Given the description of an element on the screen output the (x, y) to click on. 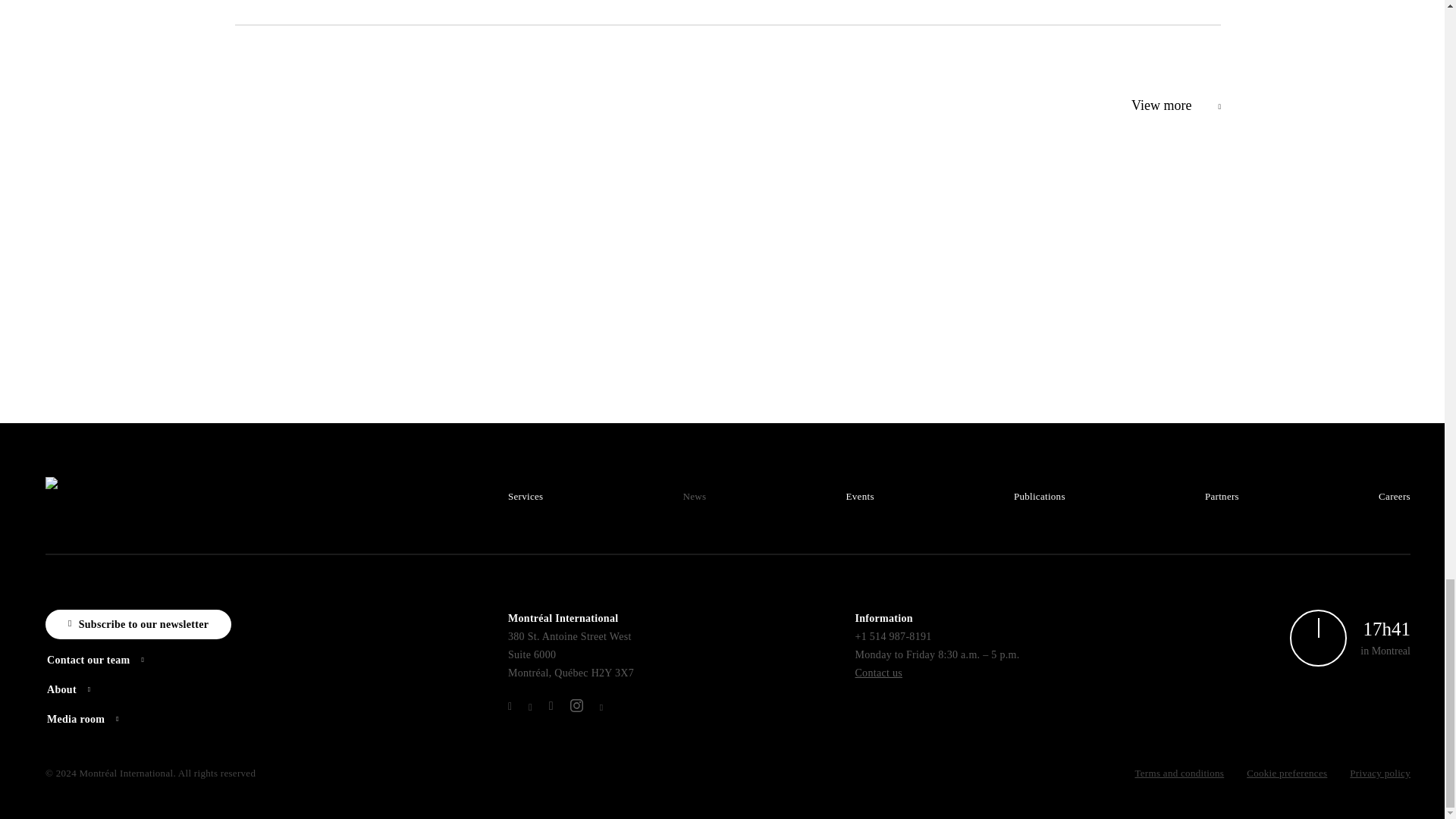
Email (878, 672)
Instagram (576, 705)
About (80, 689)
Media room (94, 718)
Facebook (551, 705)
Youtube (601, 706)
Contact our team (107, 659)
Logo (103, 490)
Twitter (529, 706)
LinkedIn (509, 706)
